Given the description of an element on the screen output the (x, y) to click on. 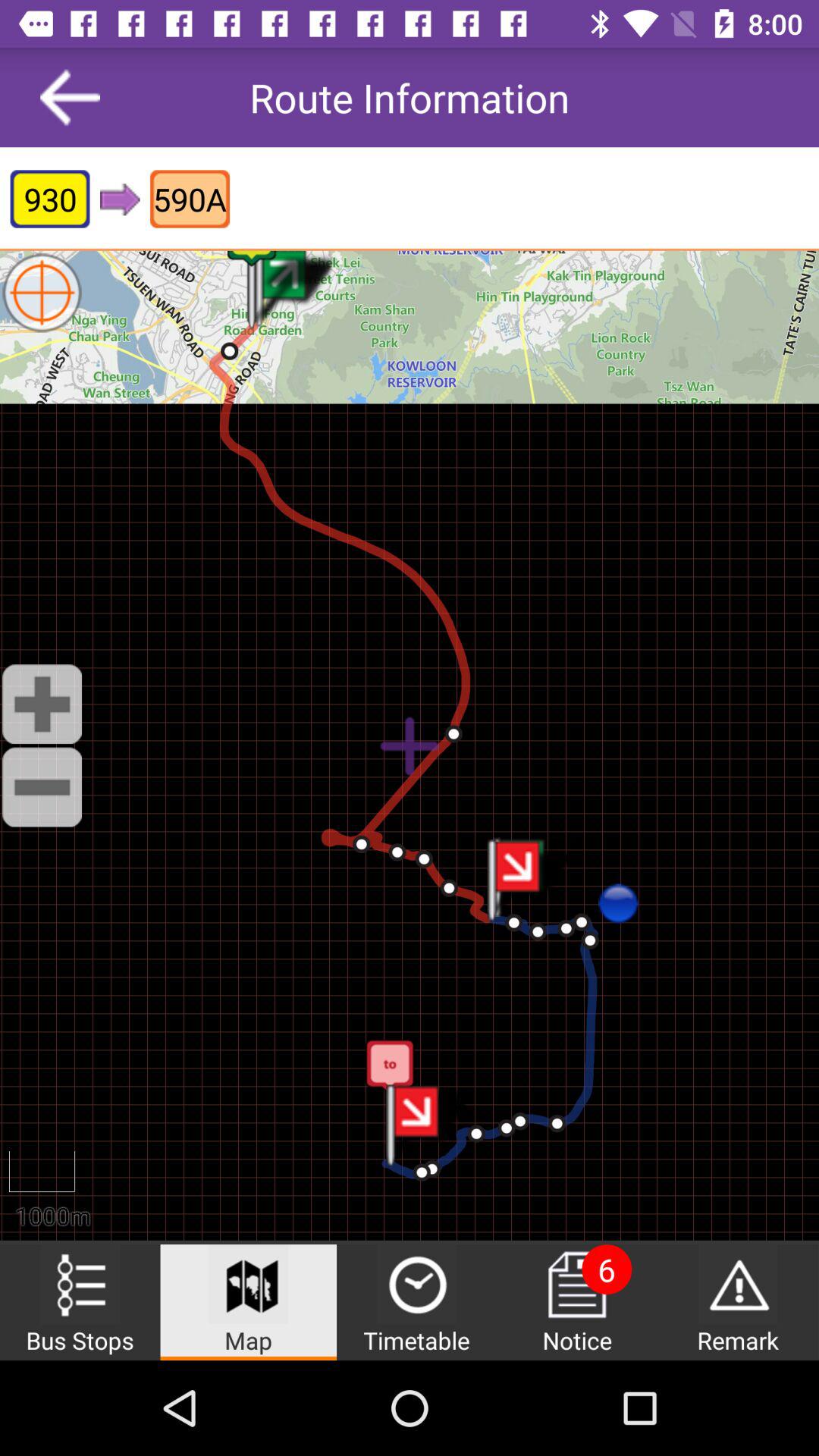
tap the item to the left of the route information item (69, 97)
